Given the description of an element on the screen output the (x, y) to click on. 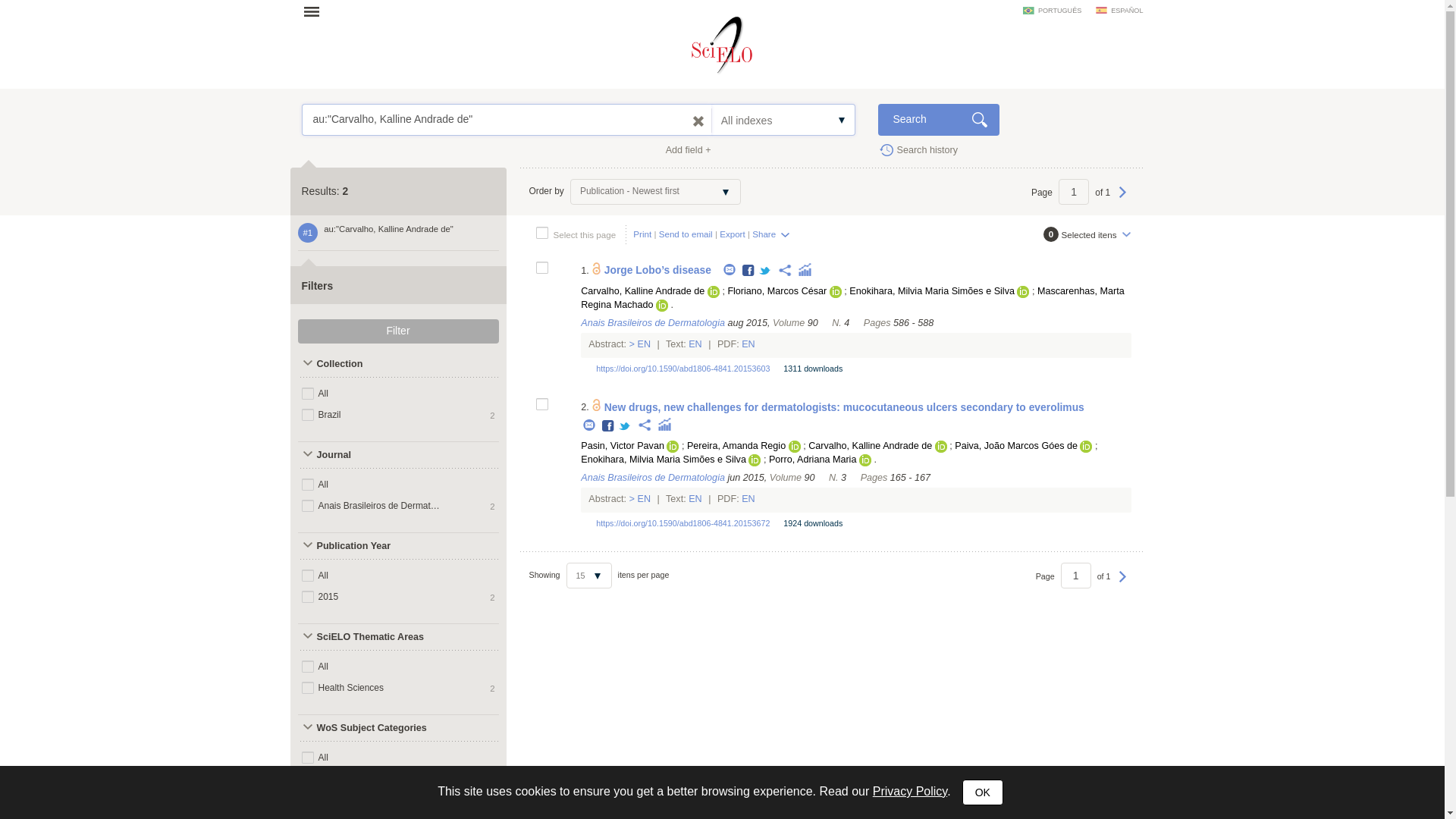
Search (937, 119)
Publication Year (371, 546)
1 (1073, 191)
WoS Subject Categories (371, 728)
WoS Citation Index (371, 812)
Collection (371, 364)
Collection (371, 364)
WoS Subject Categories (371, 728)
Search (937, 119)
Journal (371, 455)
SciELO Thematic Areas (371, 637)
Journal (371, 455)
Share Facebook (748, 270)
Print (641, 234)
1 (1075, 575)
